Given the description of an element on the screen output the (x, y) to click on. 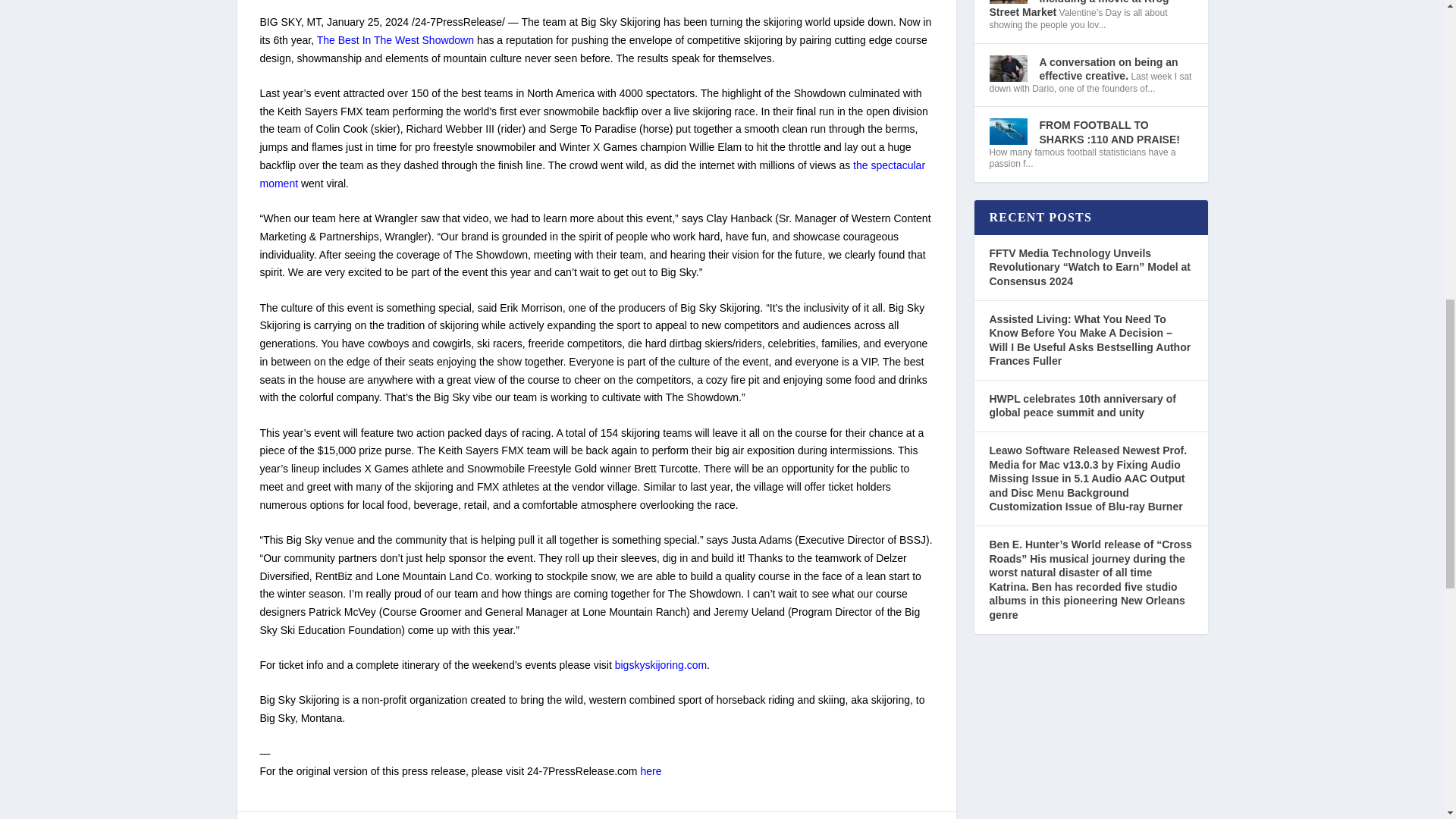
the spectacular moment (591, 173)
here (650, 770)
bigskyskijoring.com (660, 664)
The Best In The West Showdown (395, 39)
